Given the description of an element on the screen output the (x, y) to click on. 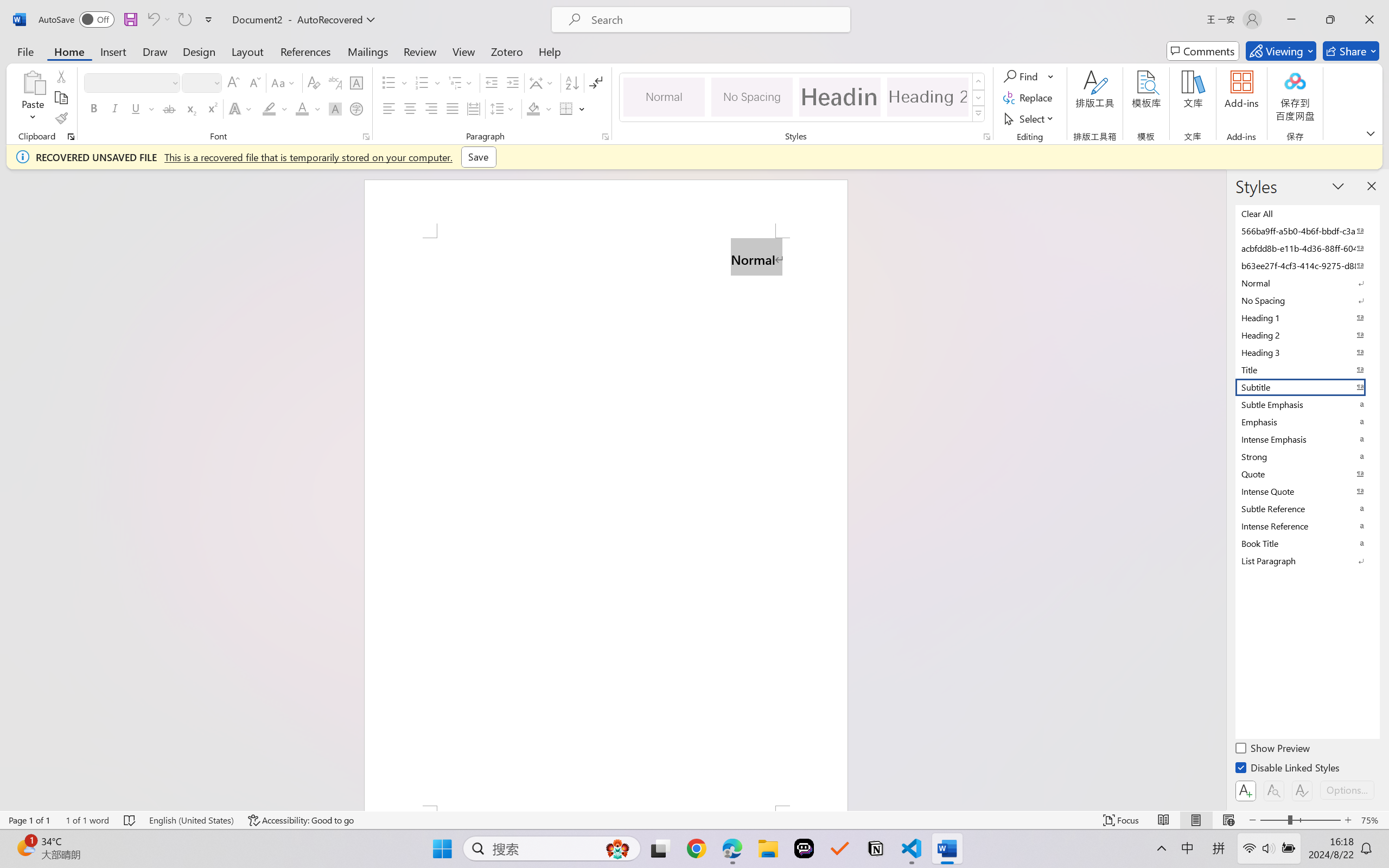
Page Number Page 1 of 1 (29, 819)
Heading 3 (1306, 352)
Intense Quote (1306, 490)
Disable Linked Styles (1287, 769)
Intense Reference (1306, 525)
Intense Emphasis (1306, 438)
Text Highlight Color (274, 108)
Open (215, 82)
Subtitle (1306, 386)
